Given the description of an element on the screen output the (x, y) to click on. 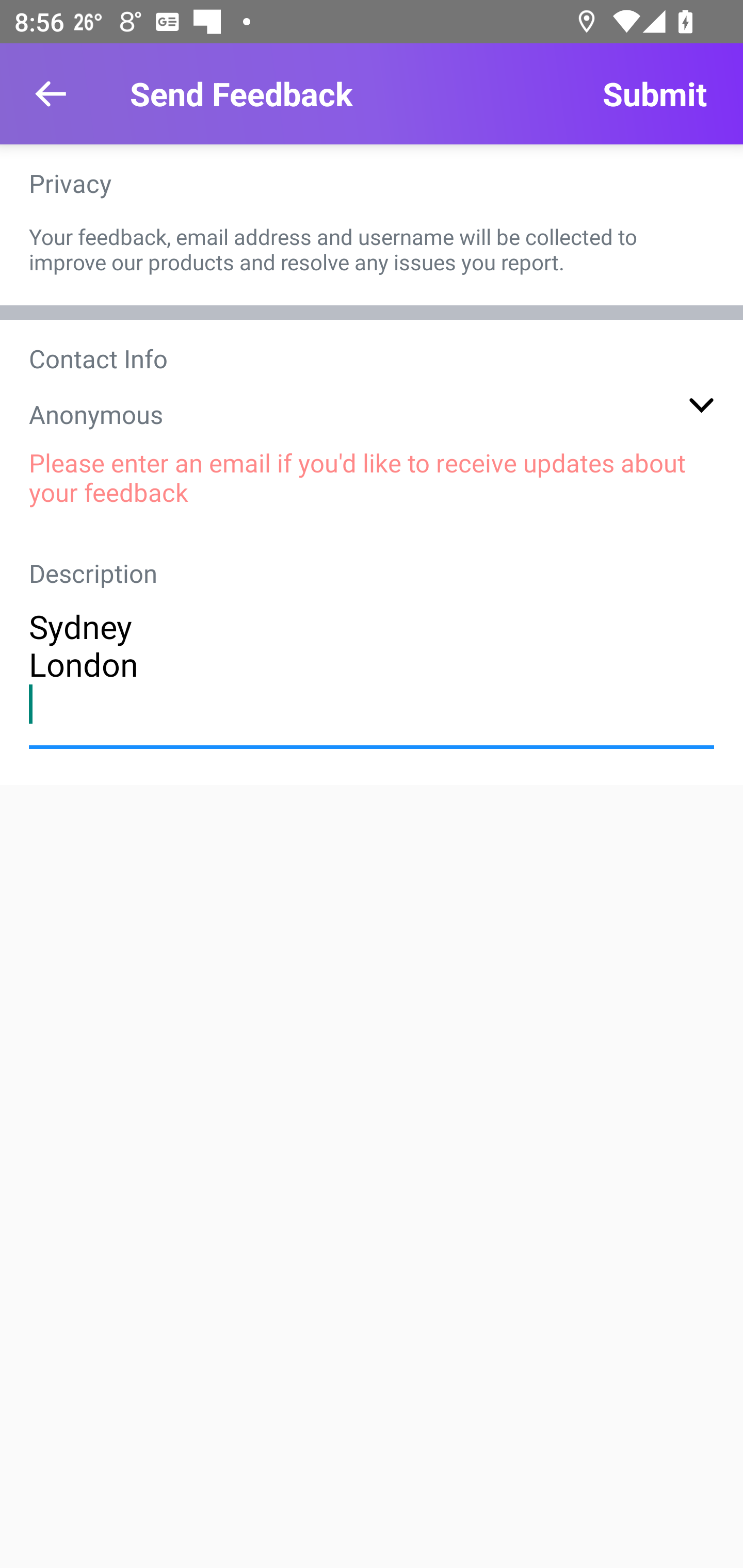
Navigate up (50, 93)
Submit (654, 94)
Anonymous (371, 413)
Sydney
London
 feedback (371, 664)
